Given the description of an element on the screen output the (x, y) to click on. 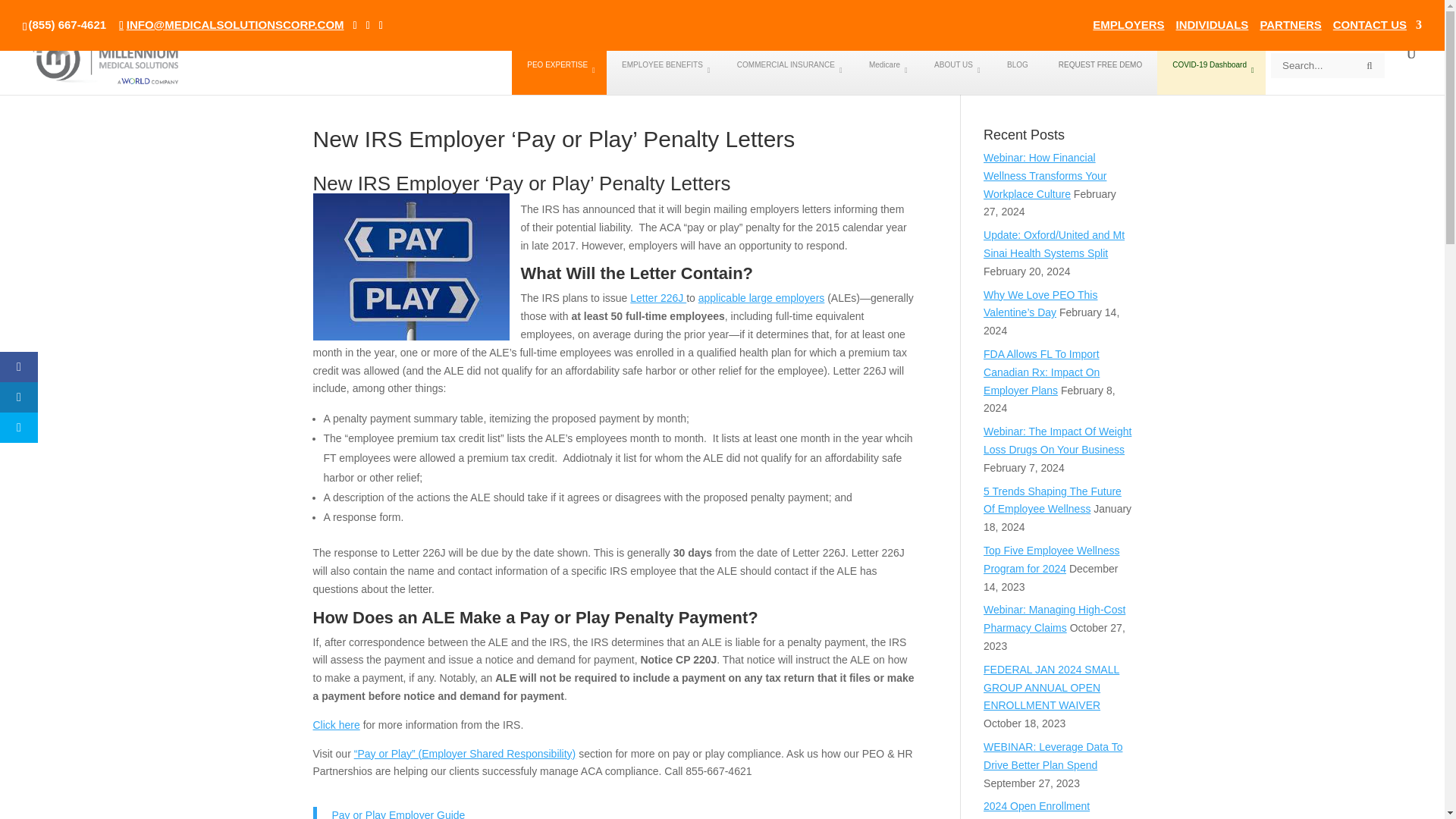
CONTACT US (1377, 28)
EMPLOYERS (1128, 28)
EMPLOYEE BENEFITS (664, 71)
PEO EXPERTISE (559, 71)
INDIVIDUALS (1212, 28)
PARTNERS (1289, 28)
